Given the description of an element on the screen output the (x, y) to click on. 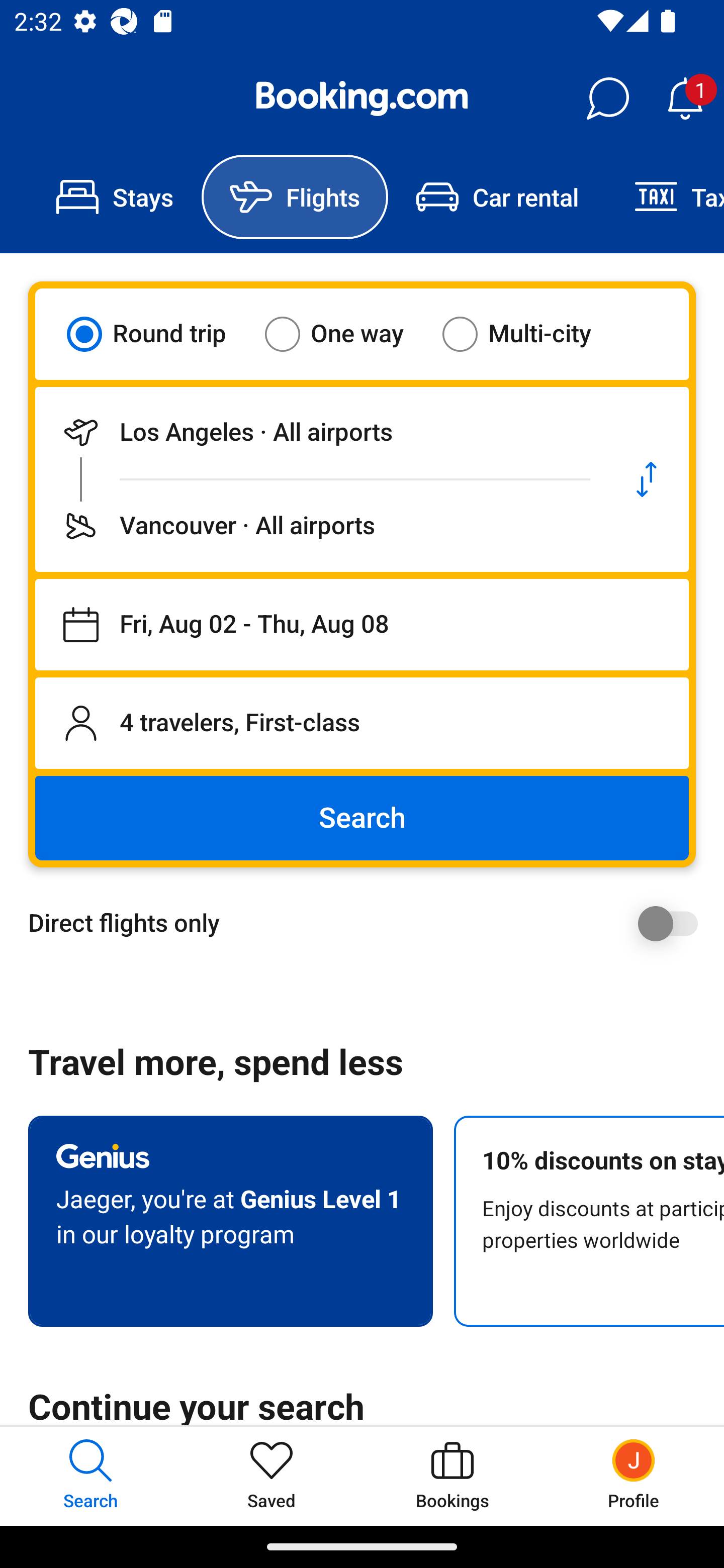
Messages (607, 98)
Notifications (685, 98)
Stays (114, 197)
Flights (294, 197)
Car rental (497, 197)
Taxi (665, 197)
One way (346, 333)
Multi-city (528, 333)
Departing from Los Angeles · All airports (319, 432)
Swap departure location and destination (646, 479)
Flying to Vancouver · All airports (319, 525)
Departing on Fri, Aug 02, returning on Thu, Aug 08 (361, 624)
4 travelers, First-class (361, 722)
Search (361, 818)
Direct flights only (369, 923)
Saved (271, 1475)
Bookings (452, 1475)
Profile (633, 1475)
